Given the description of an element on the screen output the (x, y) to click on. 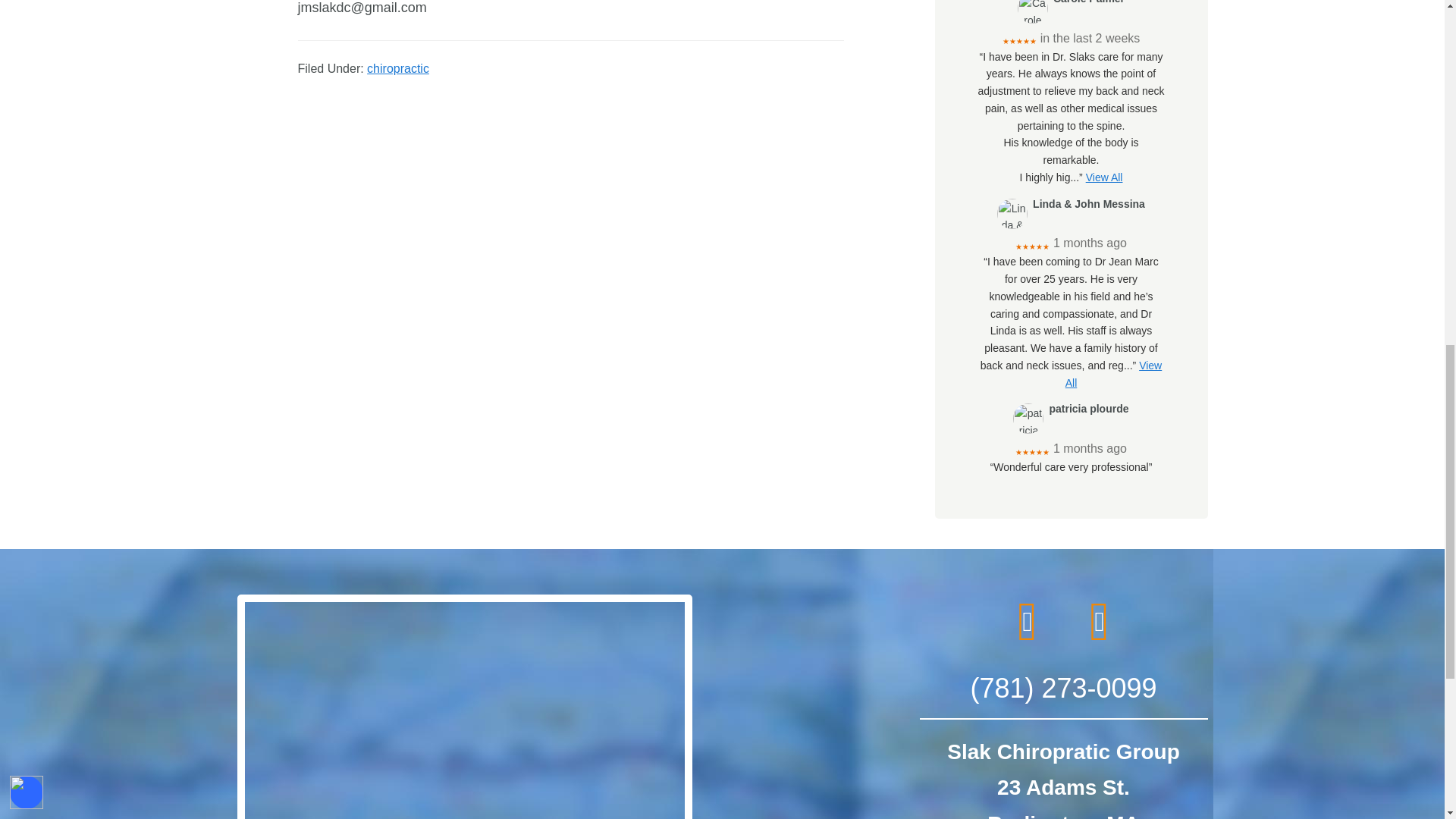
Carole Palmer (1032, 11)
View All (1113, 374)
View All (1104, 177)
chiropractic (397, 68)
patricia plourde (1028, 418)
